Given the description of an element on the screen output the (x, y) to click on. 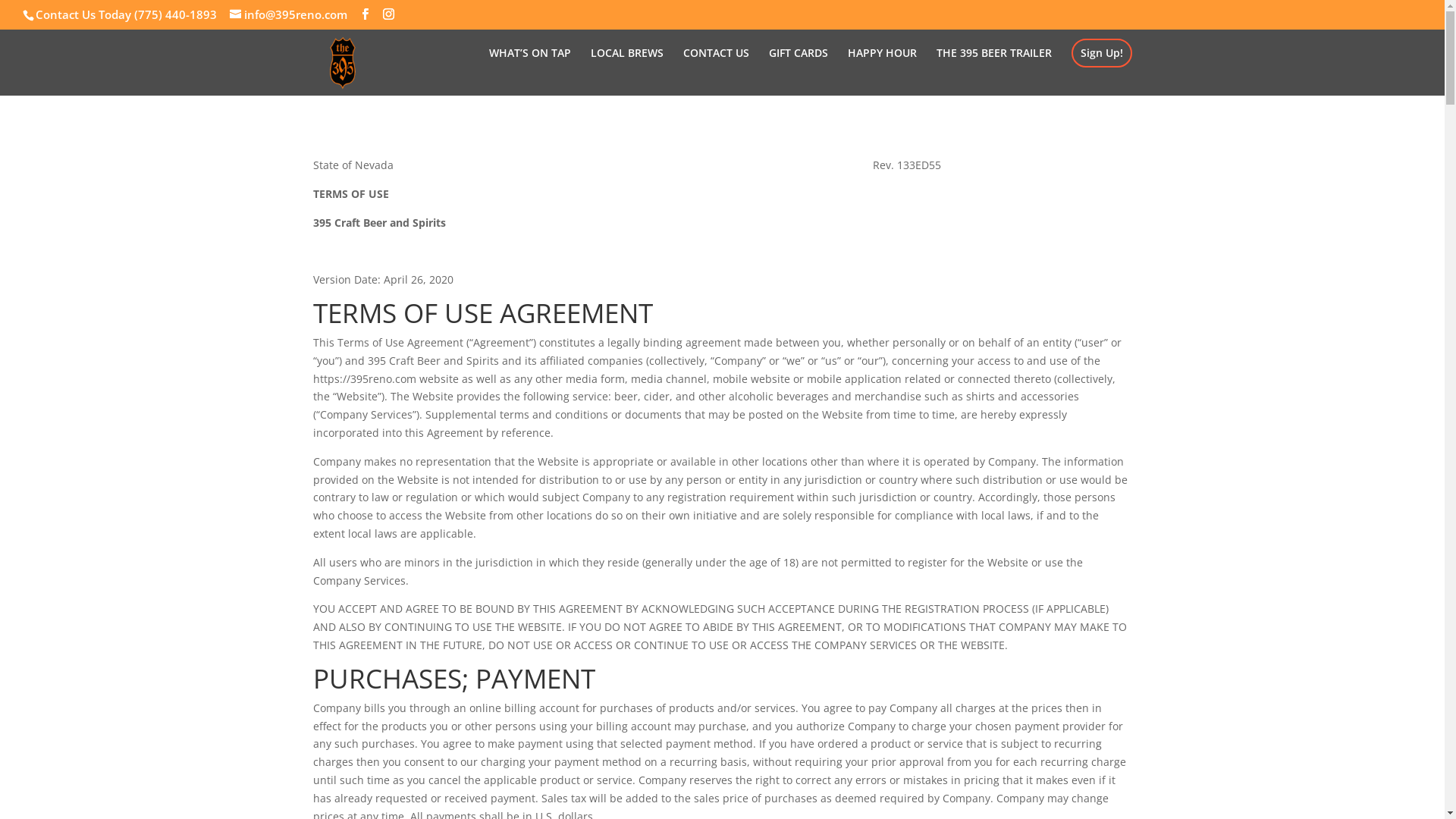
HAPPY HOUR Element type: text (881, 70)
GIFT CARDS Element type: text (798, 70)
info@395reno.com Element type: text (288, 13)
Sign Up! Element type: text (1100, 51)
CONTACT US Element type: text (715, 70)
LOCAL BREWS Element type: text (625, 70)
THE 395 BEER TRAILER Element type: text (993, 70)
